Given the description of an element on the screen output the (x, y) to click on. 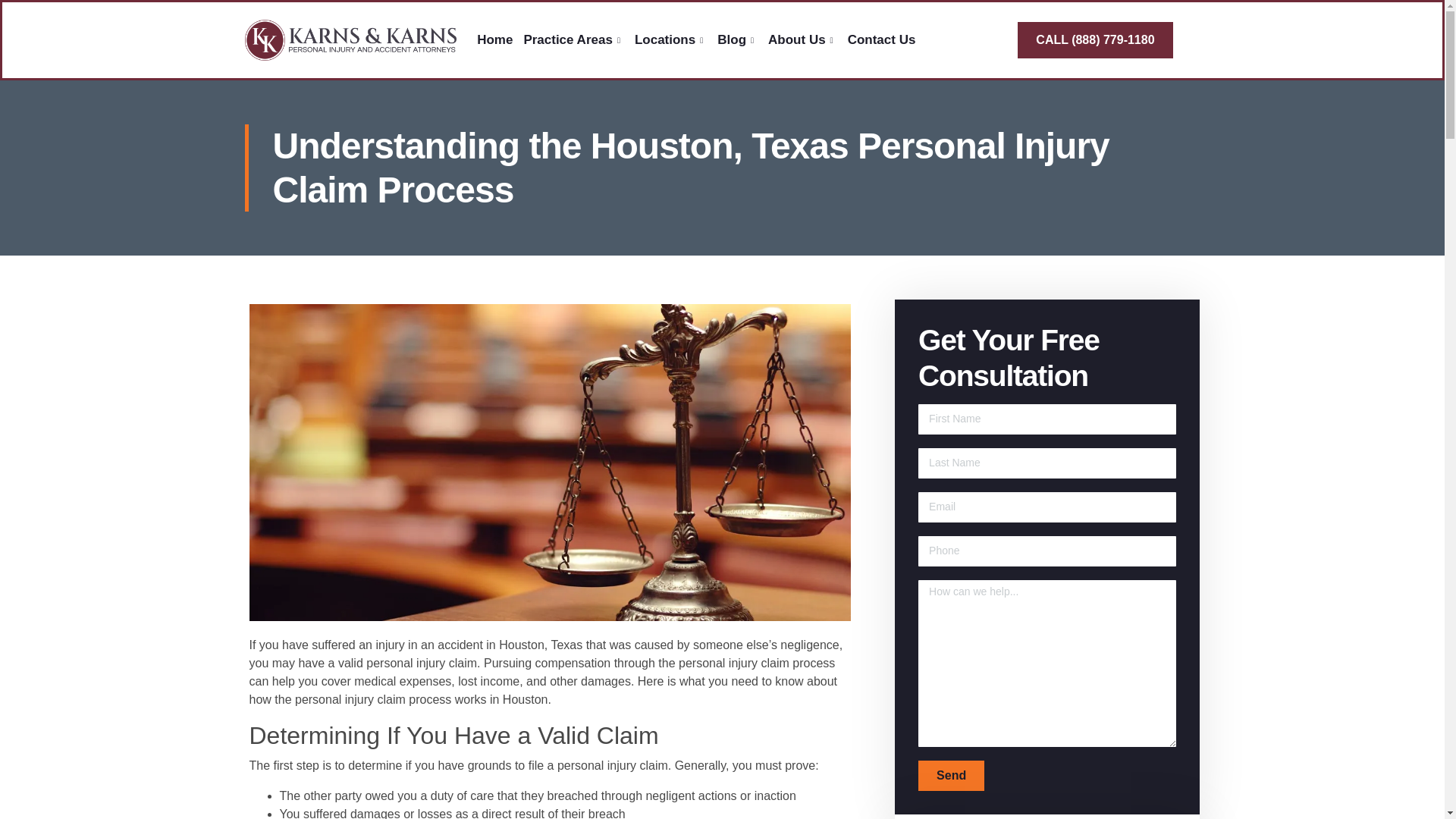
Locations (669, 39)
Practice Areas (573, 39)
